Given the description of an element on the screen output the (x, y) to click on. 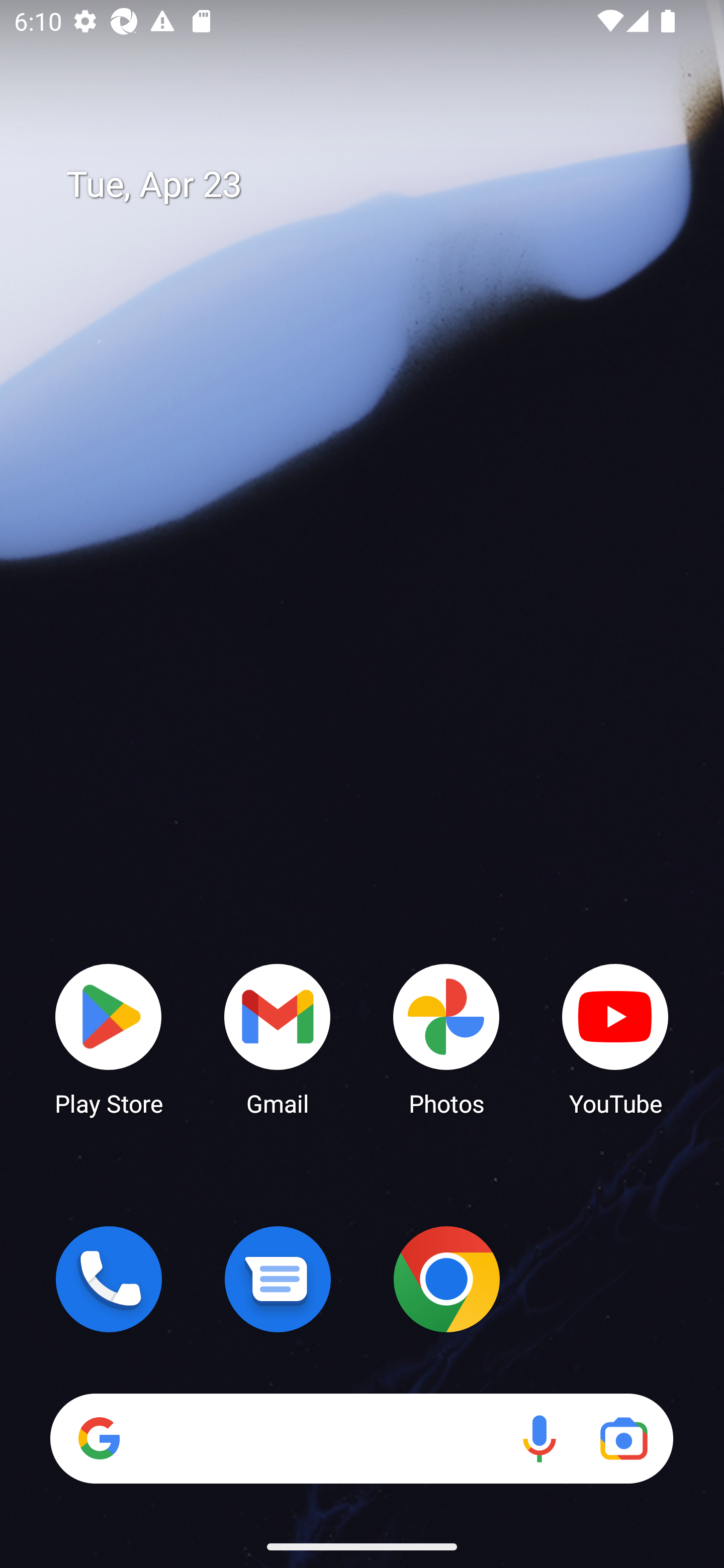
Tue, Apr 23 (375, 184)
Play Store (108, 1038)
Gmail (277, 1038)
Photos (445, 1038)
YouTube (615, 1038)
Phone (108, 1279)
Messages (277, 1279)
Chrome (446, 1279)
Search Voice search Google Lens (361, 1438)
Voice search (539, 1438)
Google Lens (623, 1438)
